Given the description of an element on the screen output the (x, y) to click on. 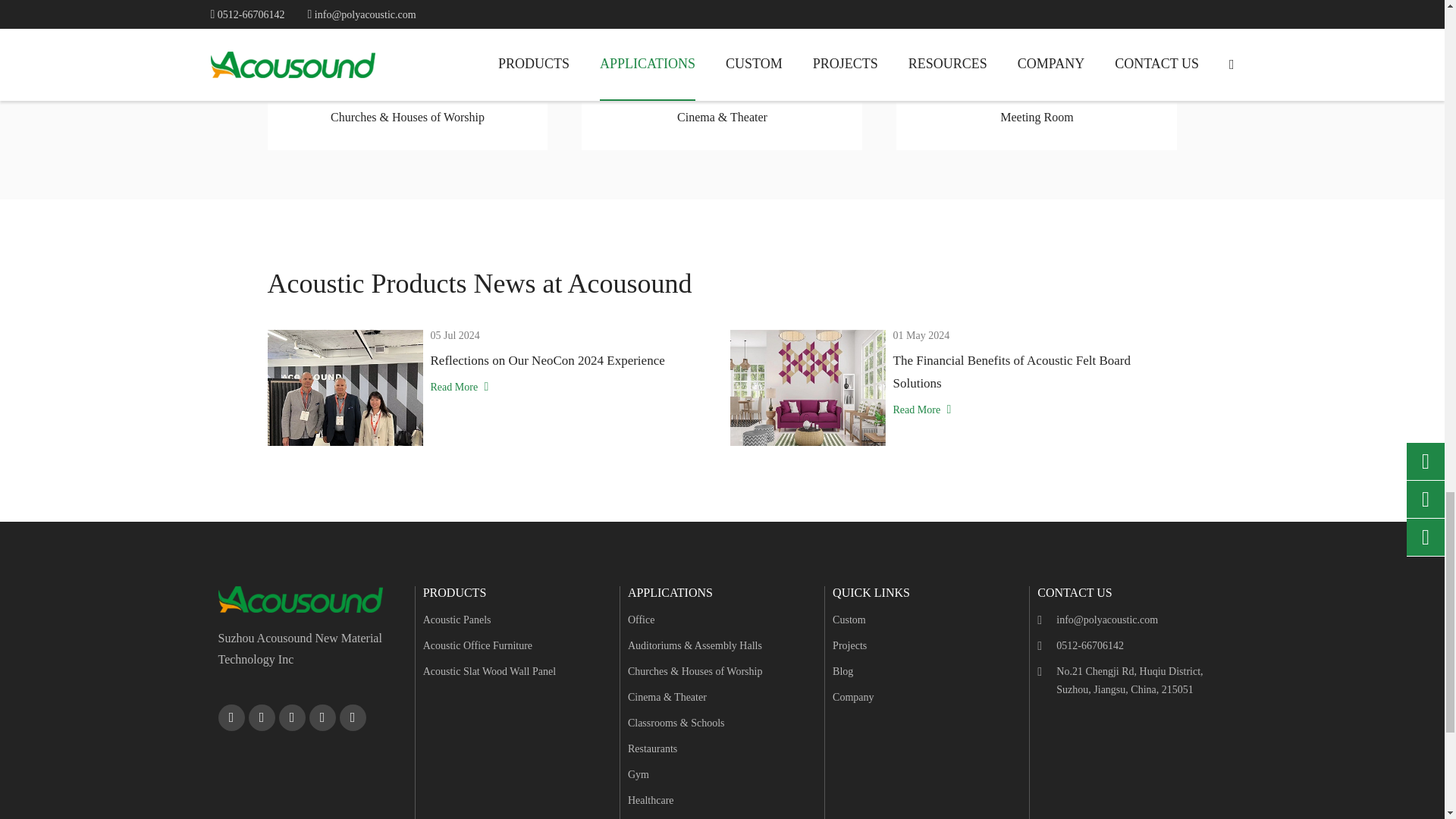
Reflections on Our NeoCon 2024 Experience (344, 387)
Meeting Room (1036, 40)
The Financial Benefits of Acoustic Felt Board Solutions (807, 387)
Suzhou Acousound New Material Technology Inc. (300, 599)
